Given the description of an element on the screen output the (x, y) to click on. 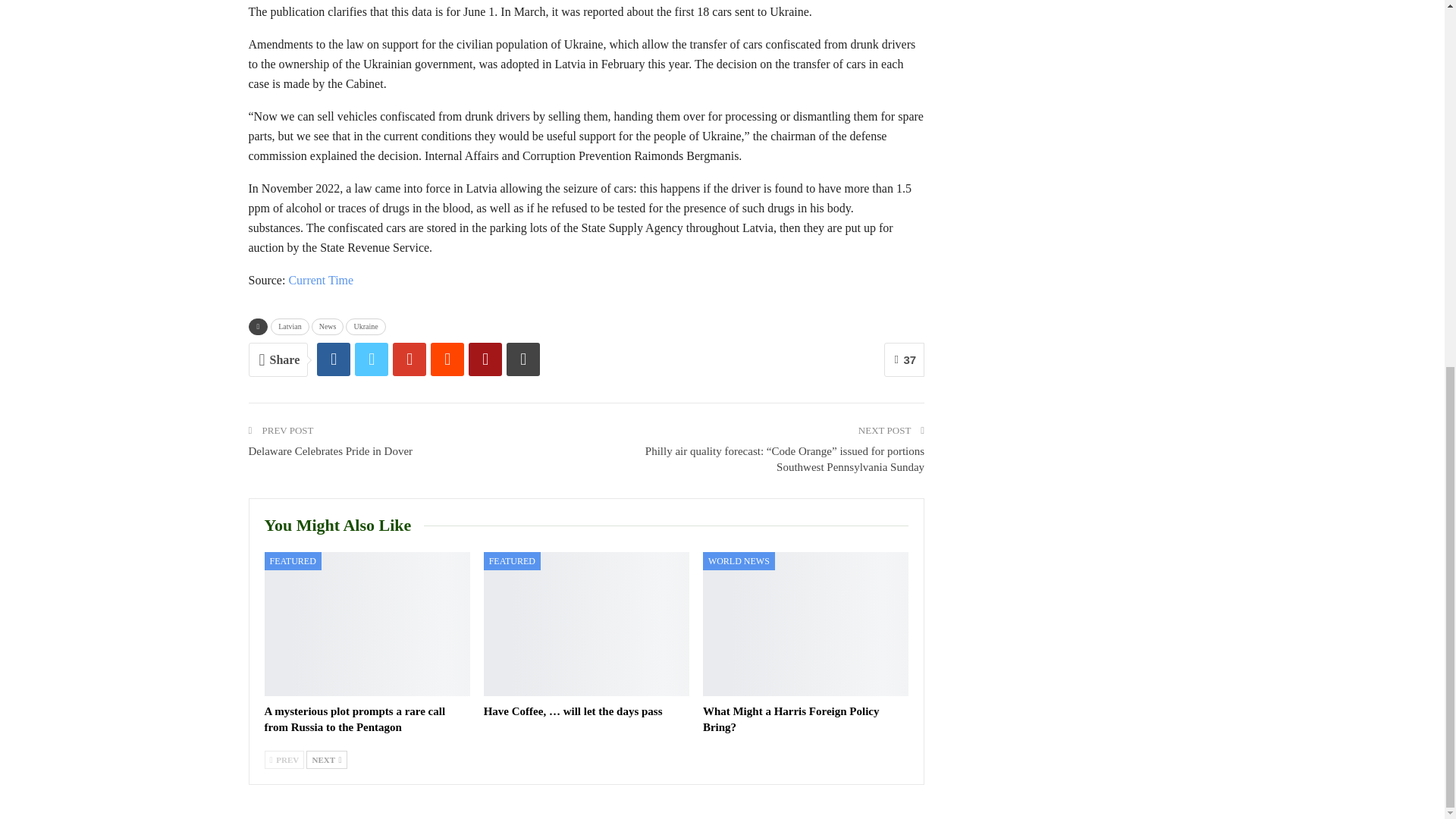
Next (325, 760)
What Might a Harris Foreign Policy Bring? (805, 624)
Previous (283, 760)
What Might a Harris Foreign Policy Bring? (791, 719)
